Given the description of an element on the screen output the (x, y) to click on. 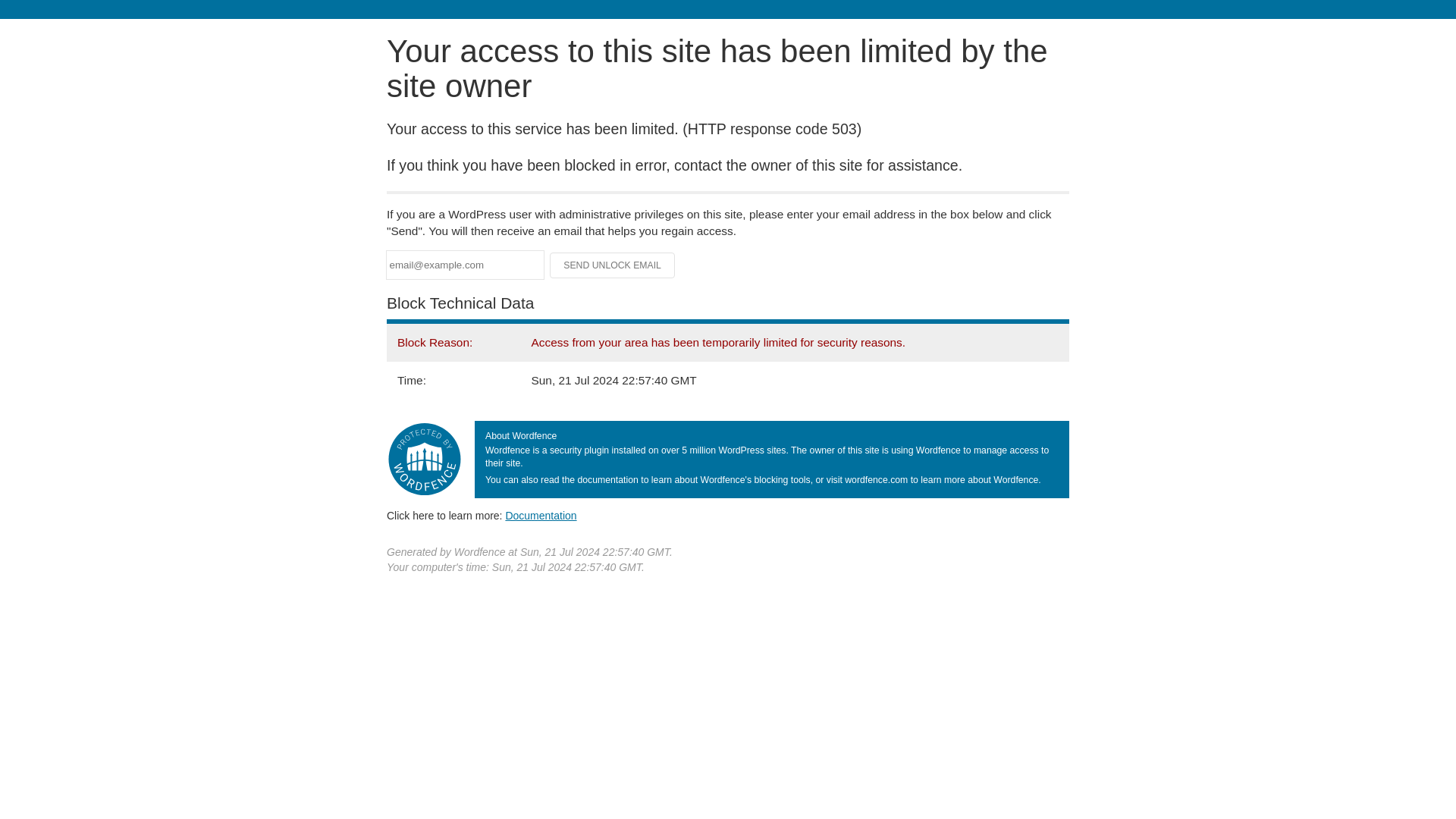
Send Unlock Email (612, 265)
Documentation (540, 515)
Send Unlock Email (612, 265)
